Given the description of an element on the screen output the (x, y) to click on. 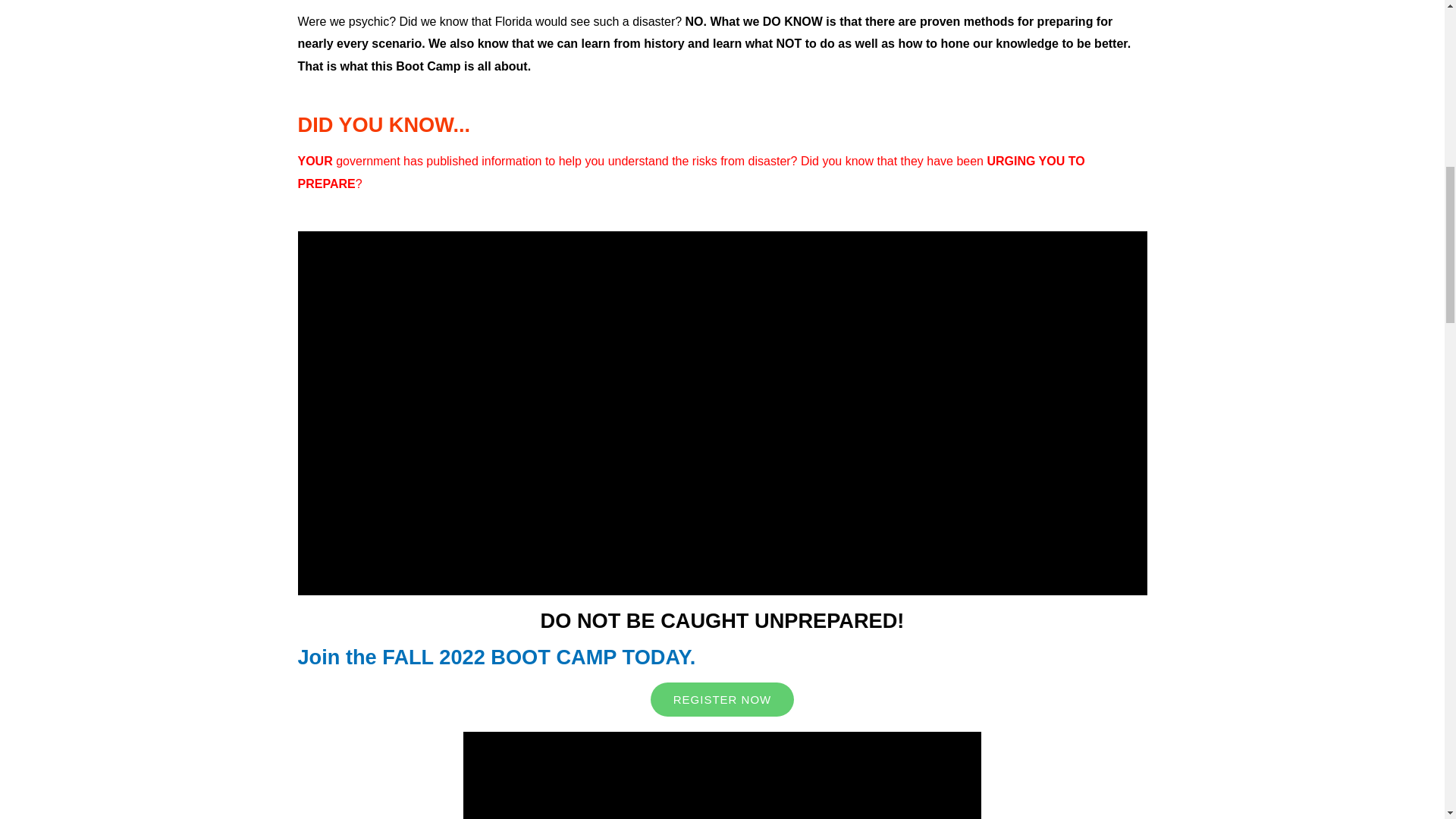
REGISTER NOW (722, 699)
vimeo Video Player (722, 775)
